Given the description of an element on the screen output the (x, y) to click on. 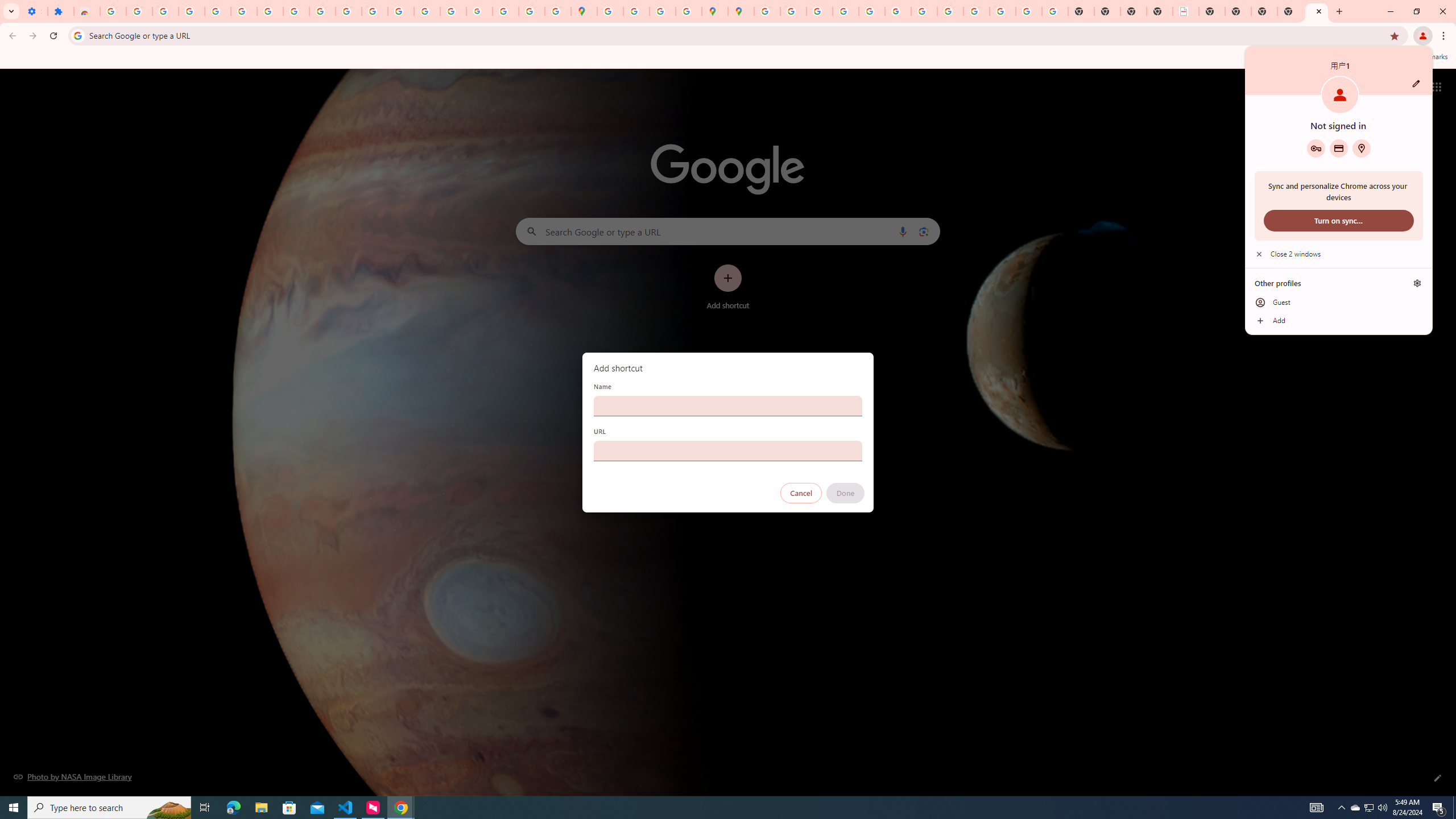
Safety in Our Products - Google Safety Center (689, 11)
Show desktop (1454, 807)
Sign in - Google Accounts (112, 11)
Google Password Manager (1315, 148)
Delete photos & videos - Computer - Google Photos Help (1368, 807)
Add (165, 11)
